Given the description of an element on the screen output the (x, y) to click on. 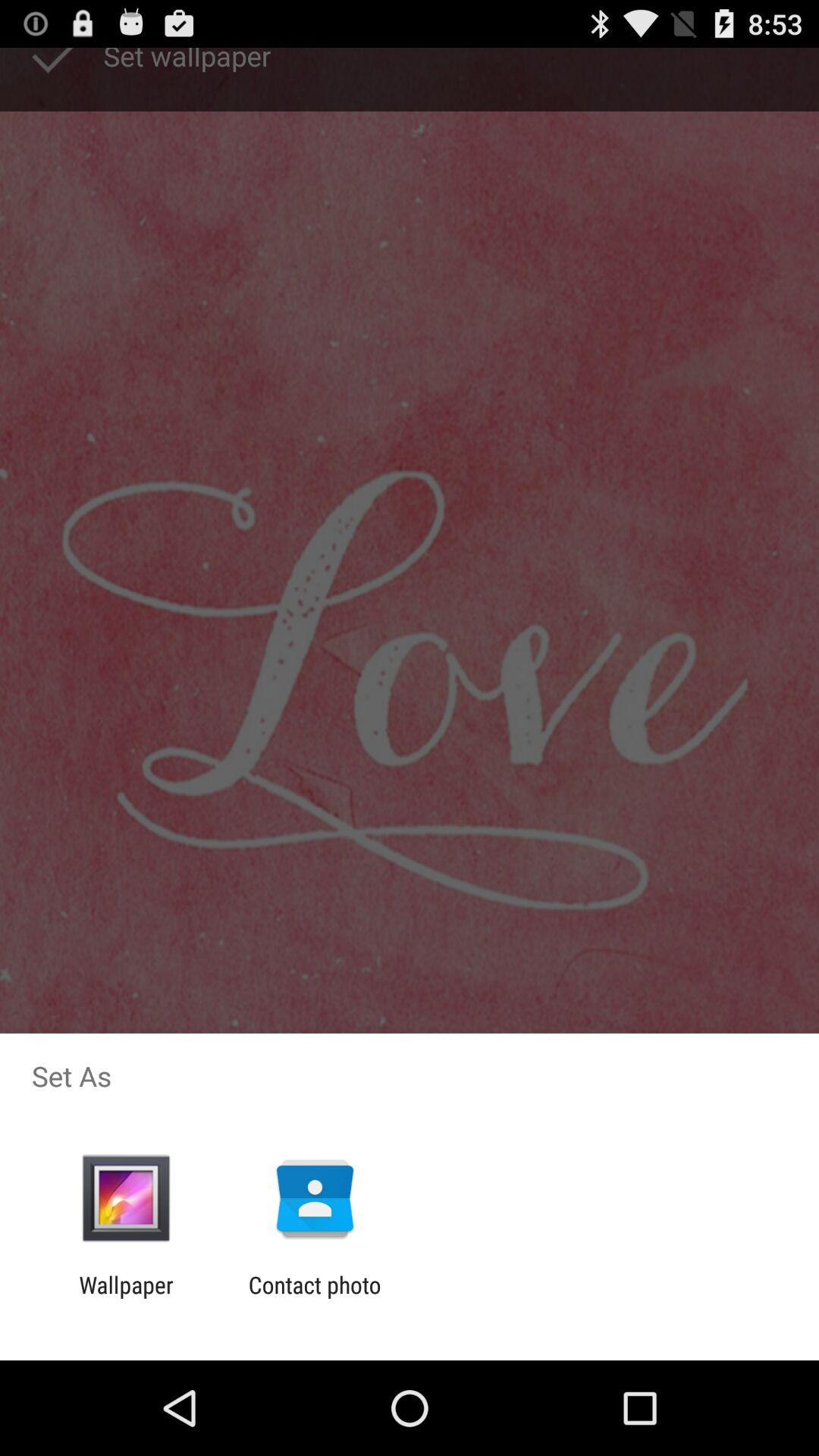
open contact photo icon (314, 1298)
